Given the description of an element on the screen output the (x, y) to click on. 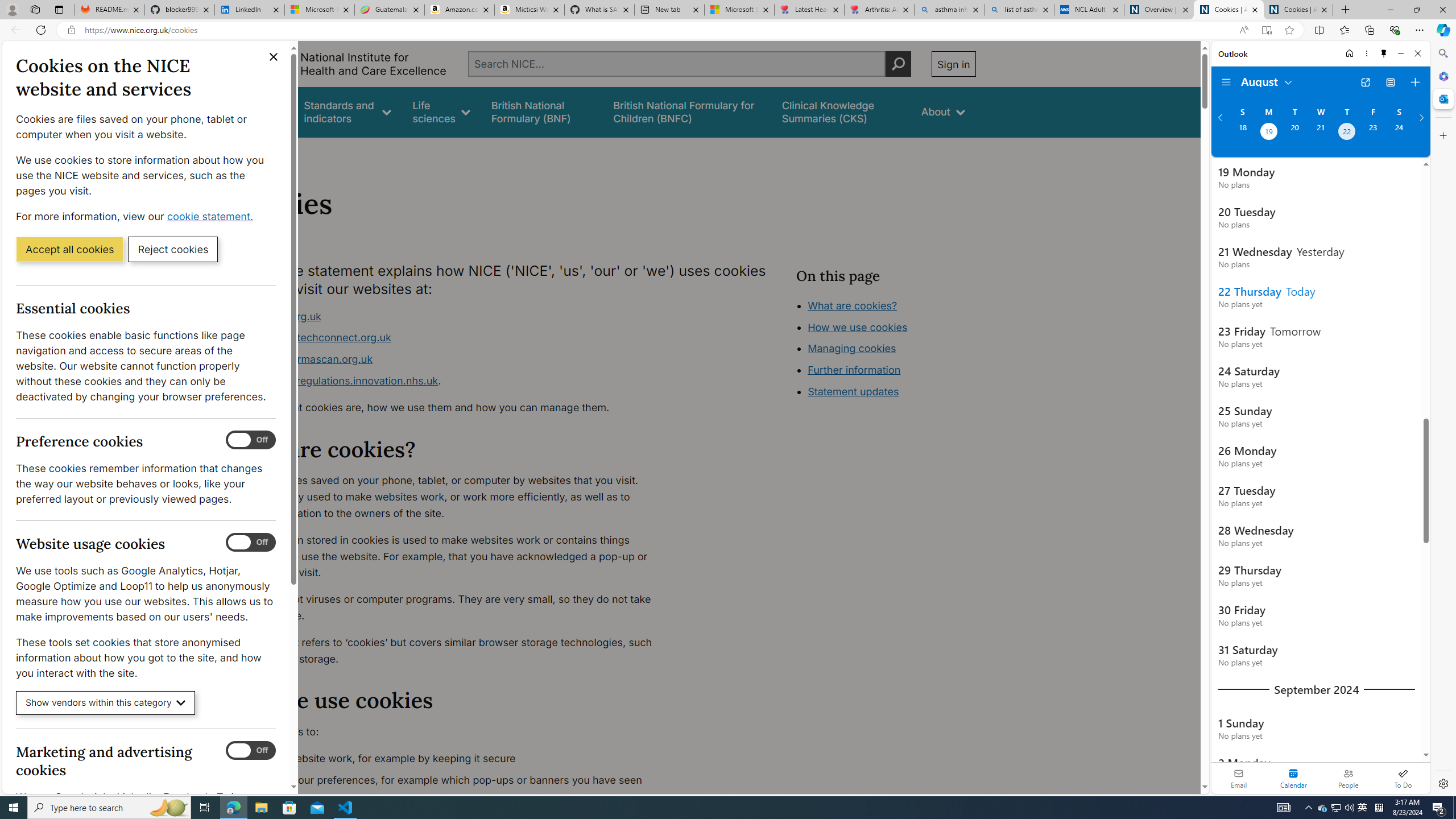
Further information (854, 369)
Guidance (260, 111)
Guidance (260, 111)
How we use cookies (857, 327)
August (1267, 80)
Create event (1414, 82)
Reject cookies (173, 248)
